Given the description of an element on the screen output the (x, y) to click on. 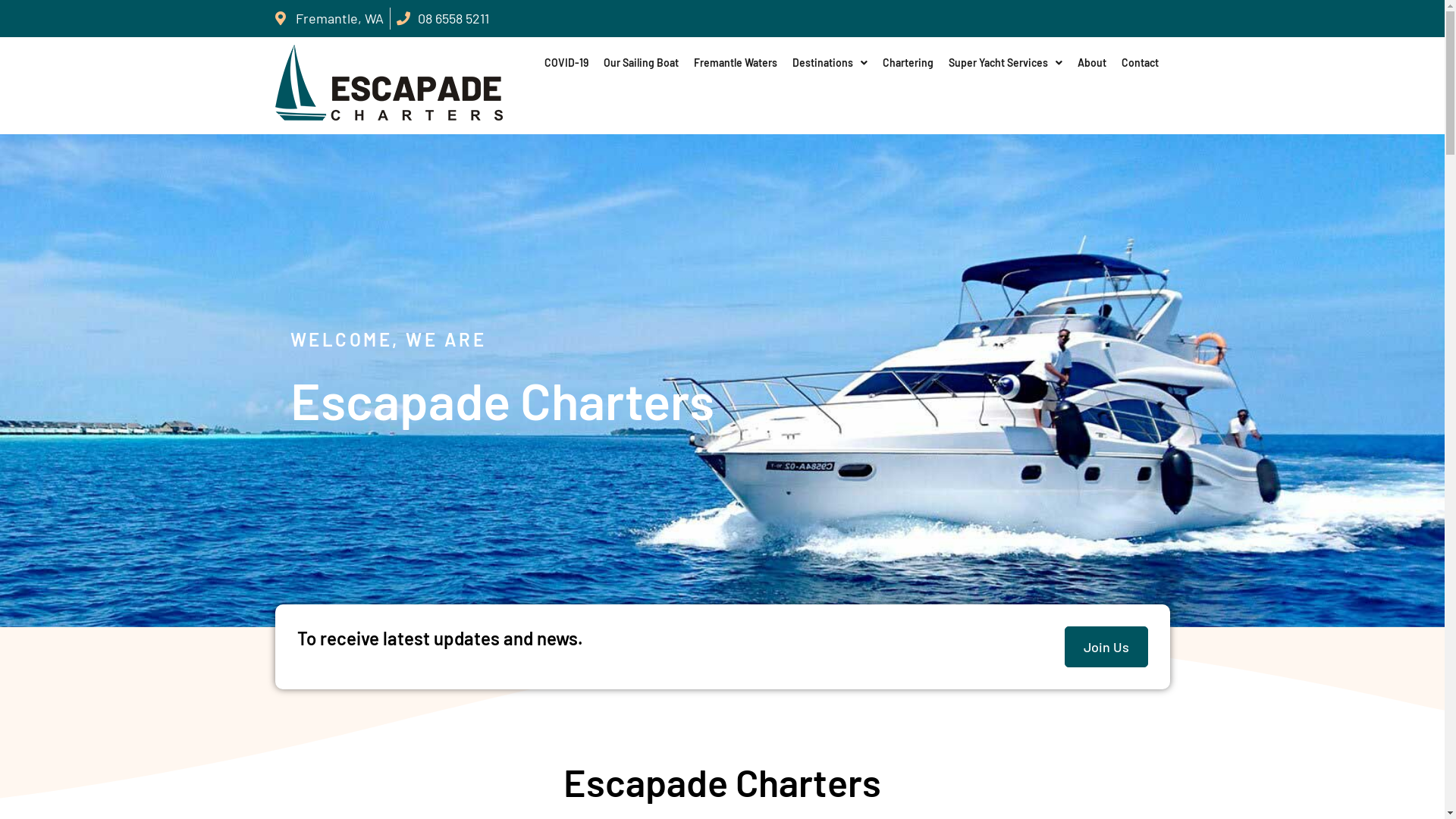
Destinations Element type: text (829, 62)
COVID-19 Element type: text (566, 62)
About Element type: text (1091, 62)
Fremantle Waters Element type: text (735, 62)
Super Yacht Services Element type: text (1005, 62)
Chartering Element type: text (908, 62)
Contact Element type: text (1139, 62)
Join Us Element type: text (1106, 647)
Our Sailing Boat Element type: text (641, 62)
